Given the description of an element on the screen output the (x, y) to click on. 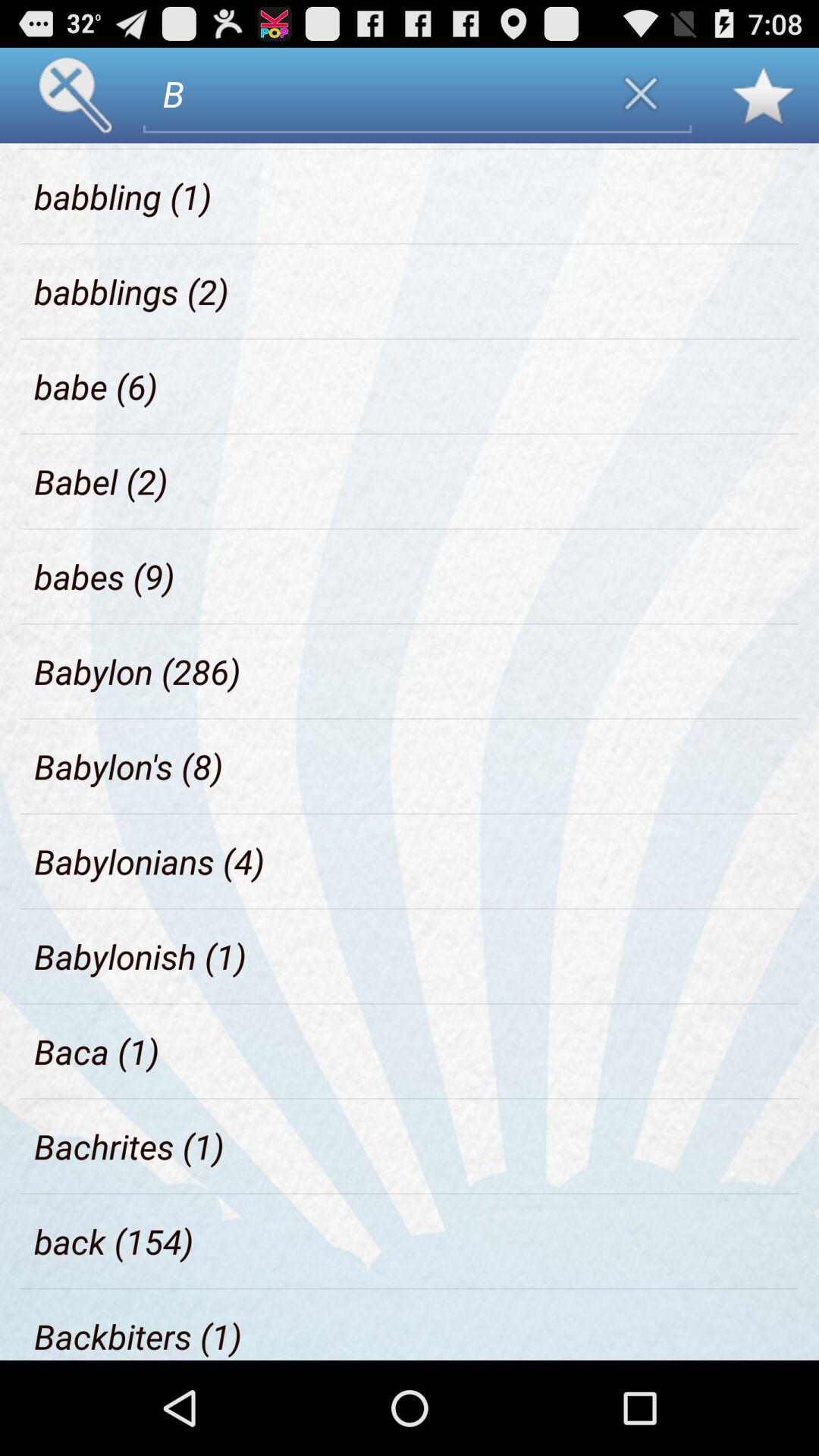
click icon next to the b icon (108, 145)
